Given the description of an element on the screen output the (x, y) to click on. 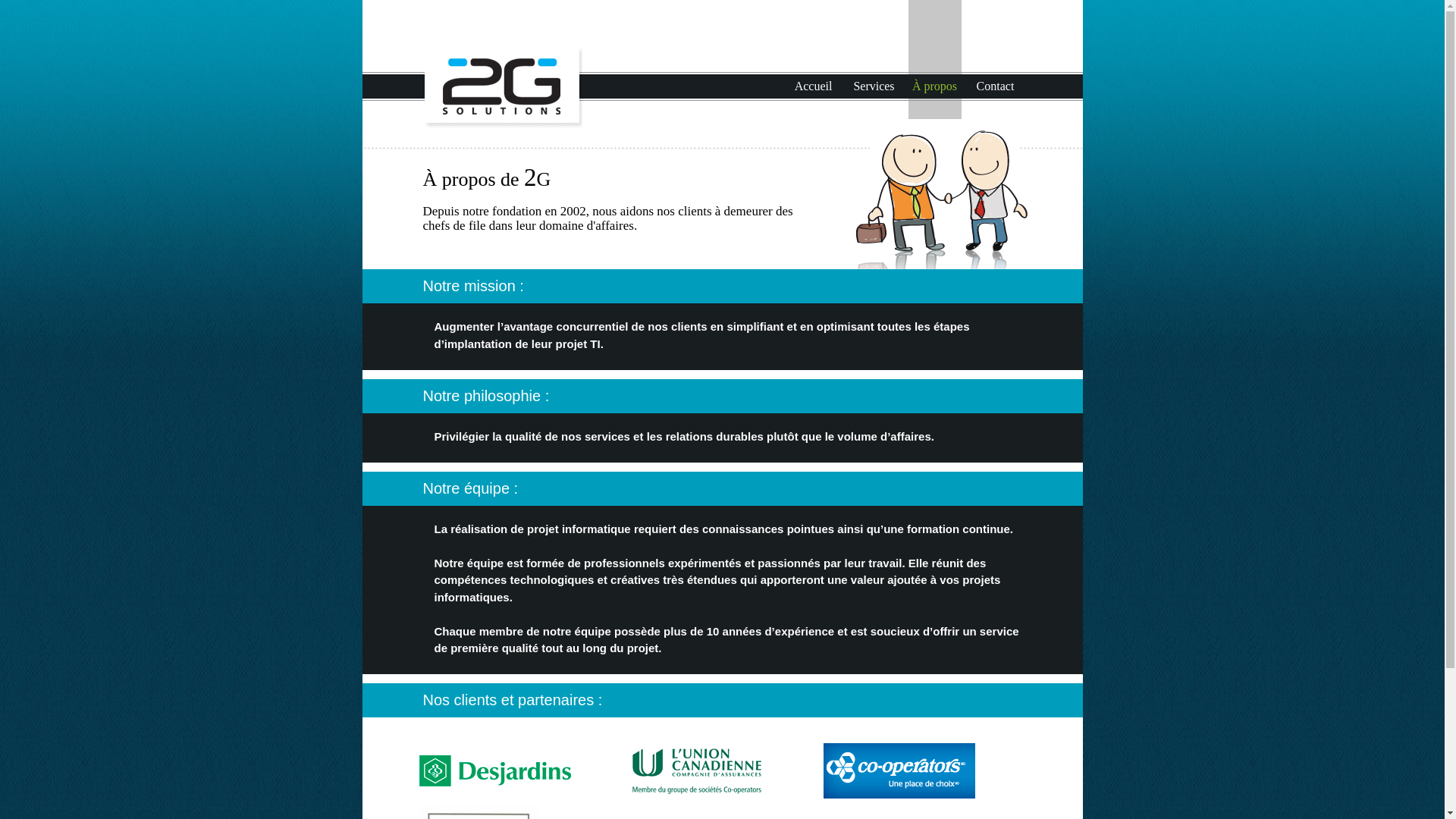
Contact Element type: text (995, 85)
Accueil Element type: text (813, 85)
Services Element type: text (873, 85)
